Given the description of an element on the screen output the (x, y) to click on. 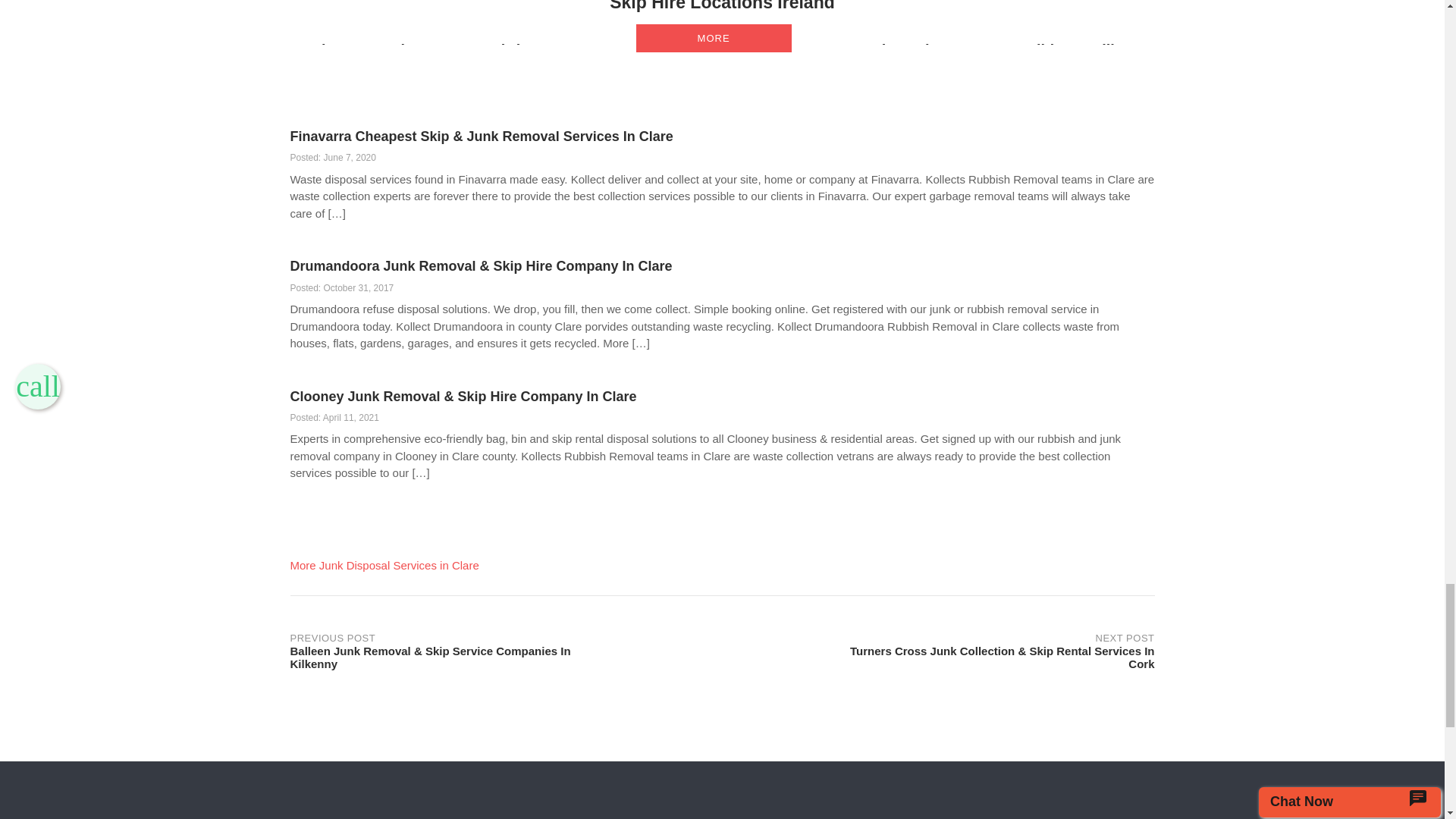
Cavan (445, 49)
Monaghan (701, 49)
Kilkenny (1122, 49)
Down (774, 49)
Leitrim (508, 49)
Fermanagh (850, 49)
Kildare (1051, 49)
Tyrone (624, 49)
Kerry (991, 49)
Armagh (381, 49)
